Given the description of an element on the screen output the (x, y) to click on. 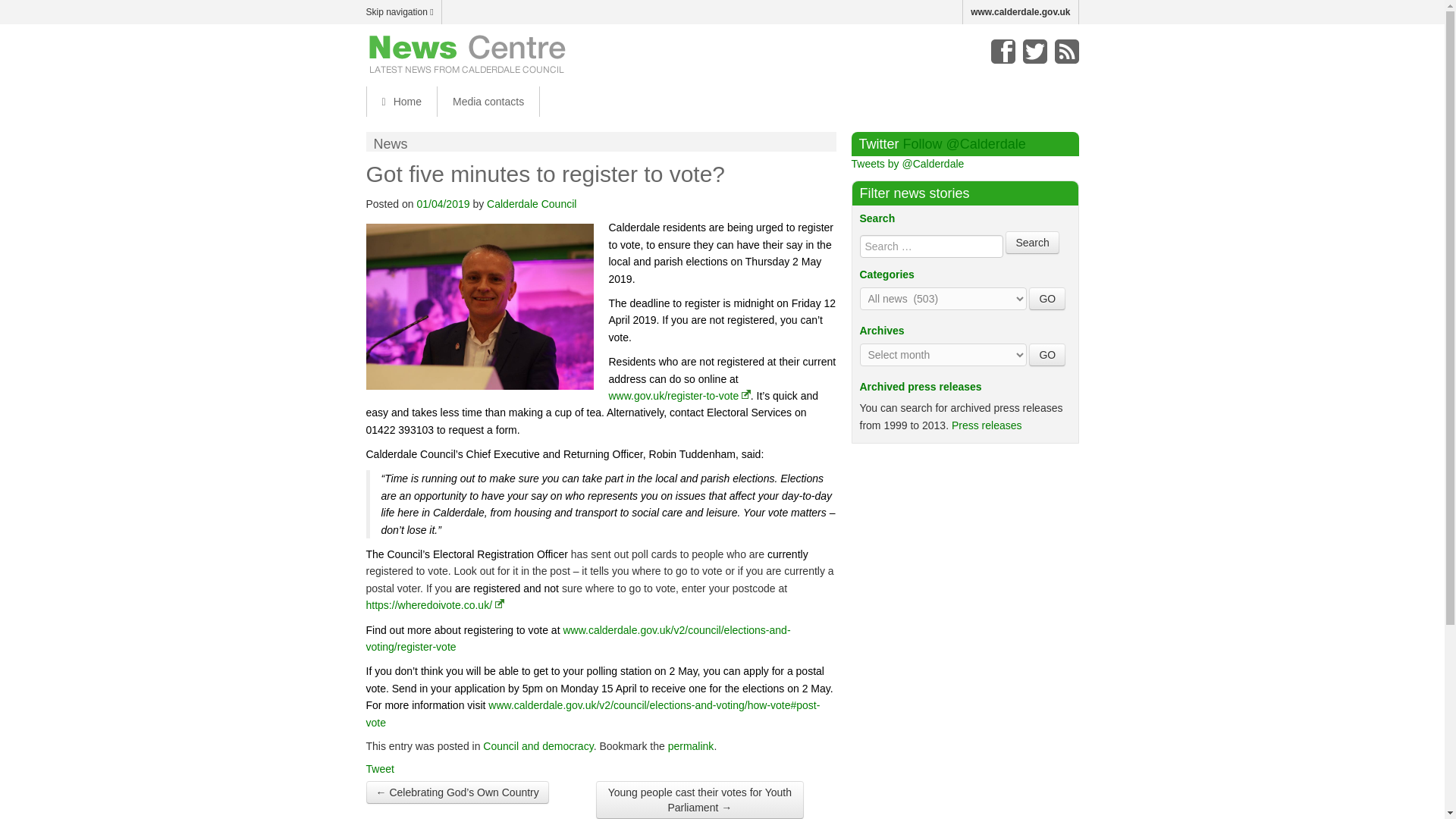
Twitter (1034, 51)
Council and democracy (537, 746)
Facebook (1002, 51)
Press releases (987, 425)
permalink (691, 746)
GO (1047, 354)
Permalink to Got five minutes to register to vote? (691, 746)
Search (1032, 241)
RSS (1066, 51)
Home (400, 101)
